Given the description of an element on the screen output the (x, y) to click on. 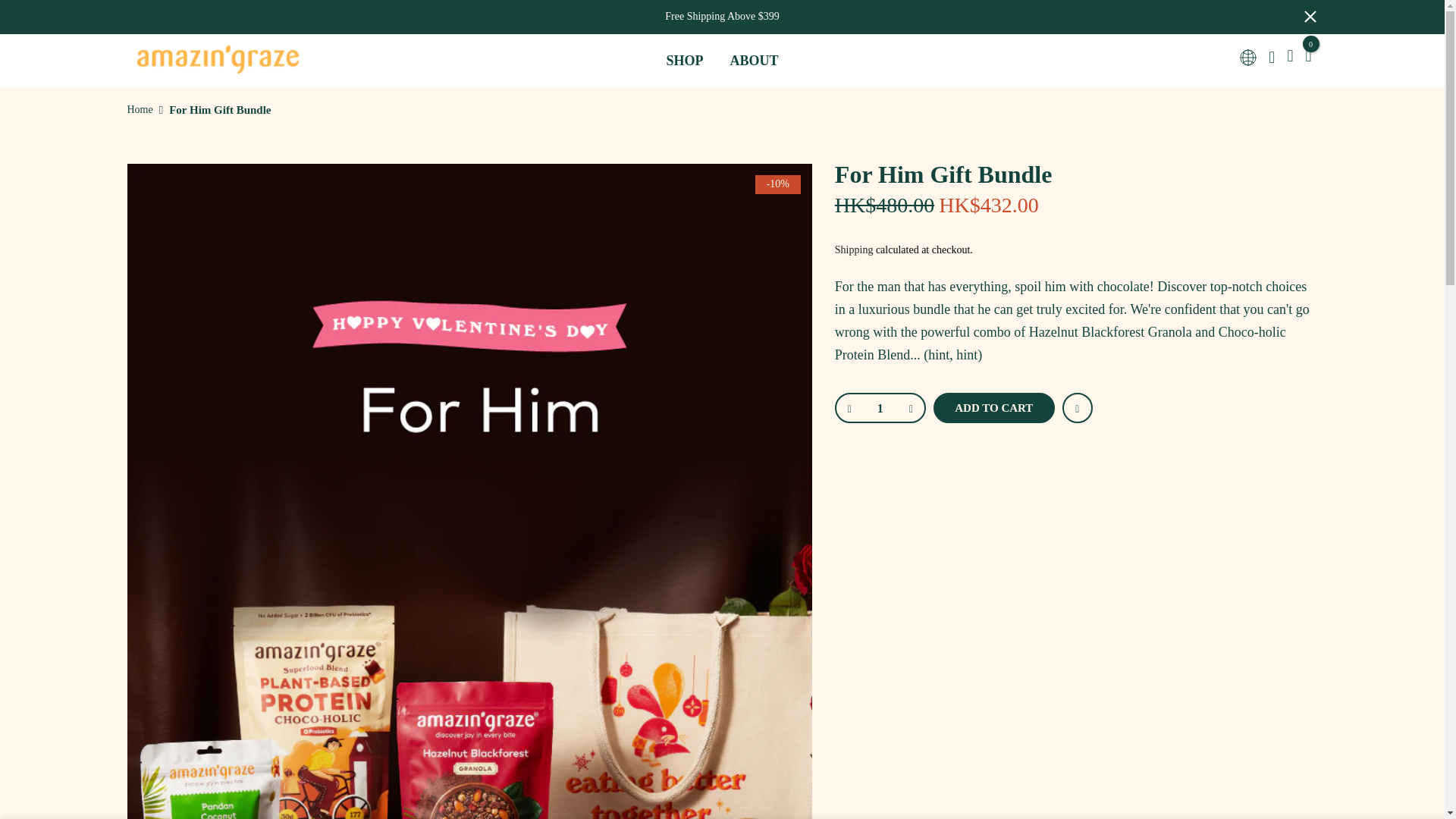
SHOP (684, 59)
ADD TO CART (993, 408)
ABOUT (754, 59)
1 (879, 408)
Shipping (853, 249)
Home (140, 109)
